Given the description of an element on the screen output the (x, y) to click on. 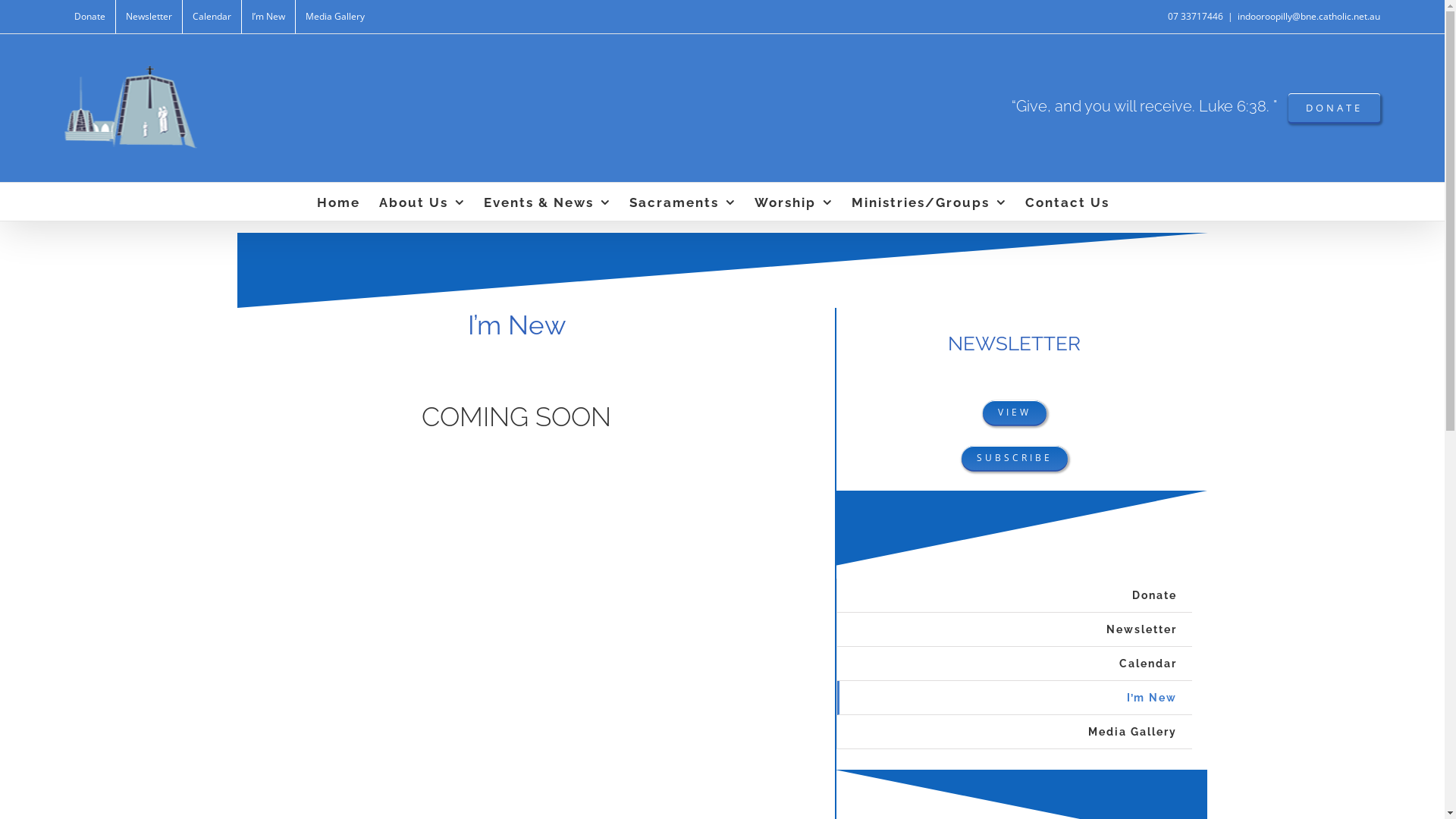
Media Gallery Element type: text (1014, 732)
SUBSCRIBE Element type: text (1014, 457)
Newsletter Element type: text (1014, 629)
Worship Element type: text (792, 201)
VIEW Element type: text (1014, 412)
Calendar Element type: text (211, 16)
Sacraments Element type: text (682, 201)
Media Gallery Element type: text (334, 16)
About Us Element type: text (421, 201)
Newsletter Element type: text (149, 16)
DONATE Element type: text (1334, 107)
indooroopilly@bne.catholic.net.au Element type: text (1308, 15)
Calendar Element type: text (1014, 663)
Donate Element type: text (89, 16)
Ministries/Groups Element type: text (927, 201)
Contact Us Element type: text (1067, 201)
Donate Element type: text (1014, 595)
Home Element type: text (338, 201)
Events & News Element type: text (546, 201)
